Given the description of an element on the screen output the (x, y) to click on. 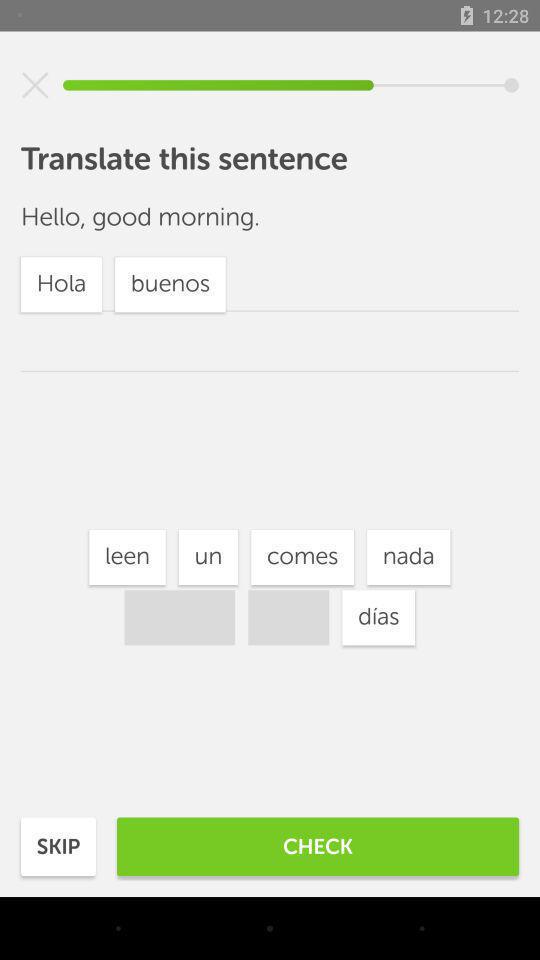
open the item next to hola icon (208, 557)
